Given the description of an element on the screen output the (x, y) to click on. 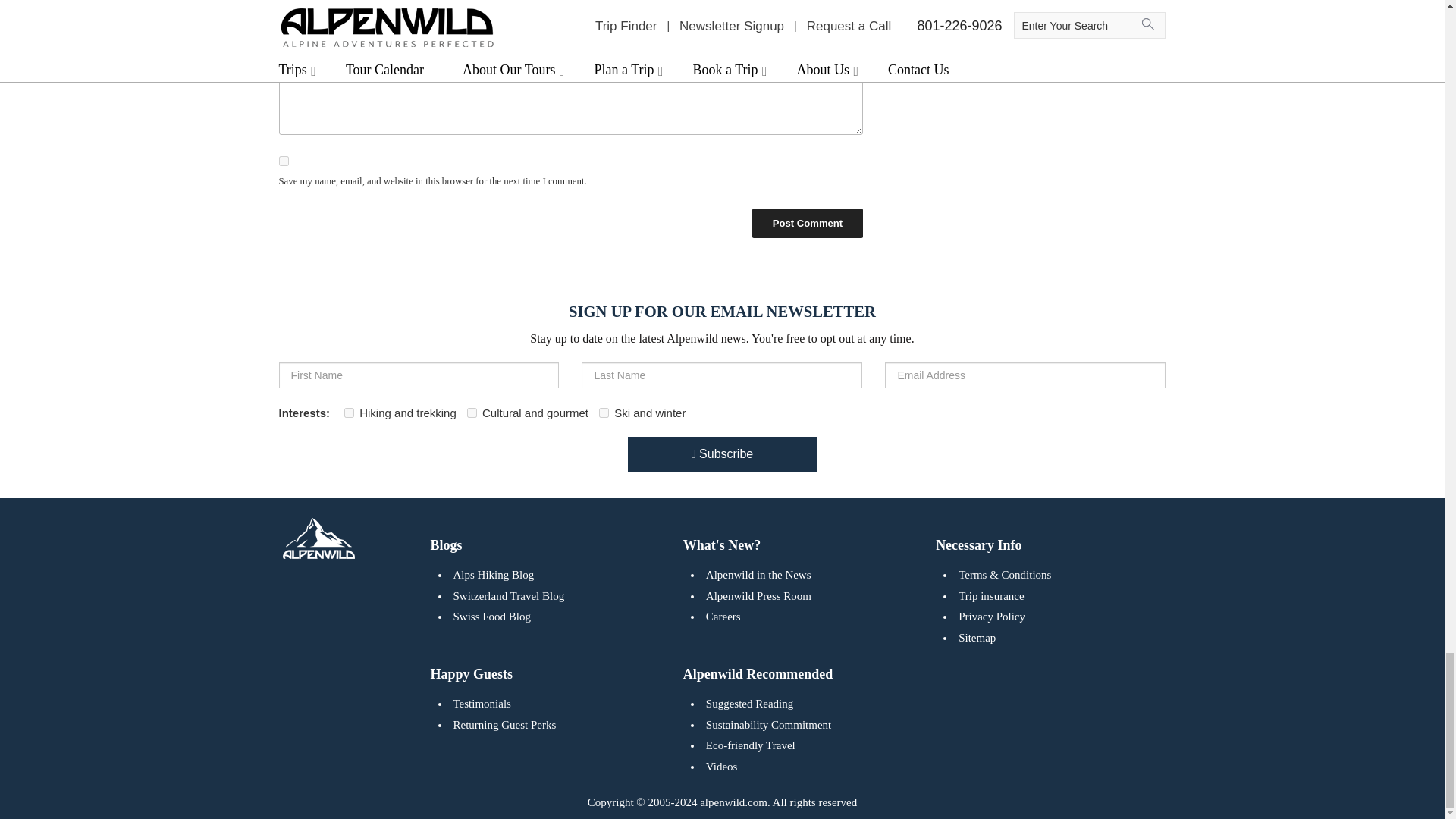
yes (283, 161)
Post Comment (806, 223)
